Given the description of an element on the screen output the (x, y) to click on. 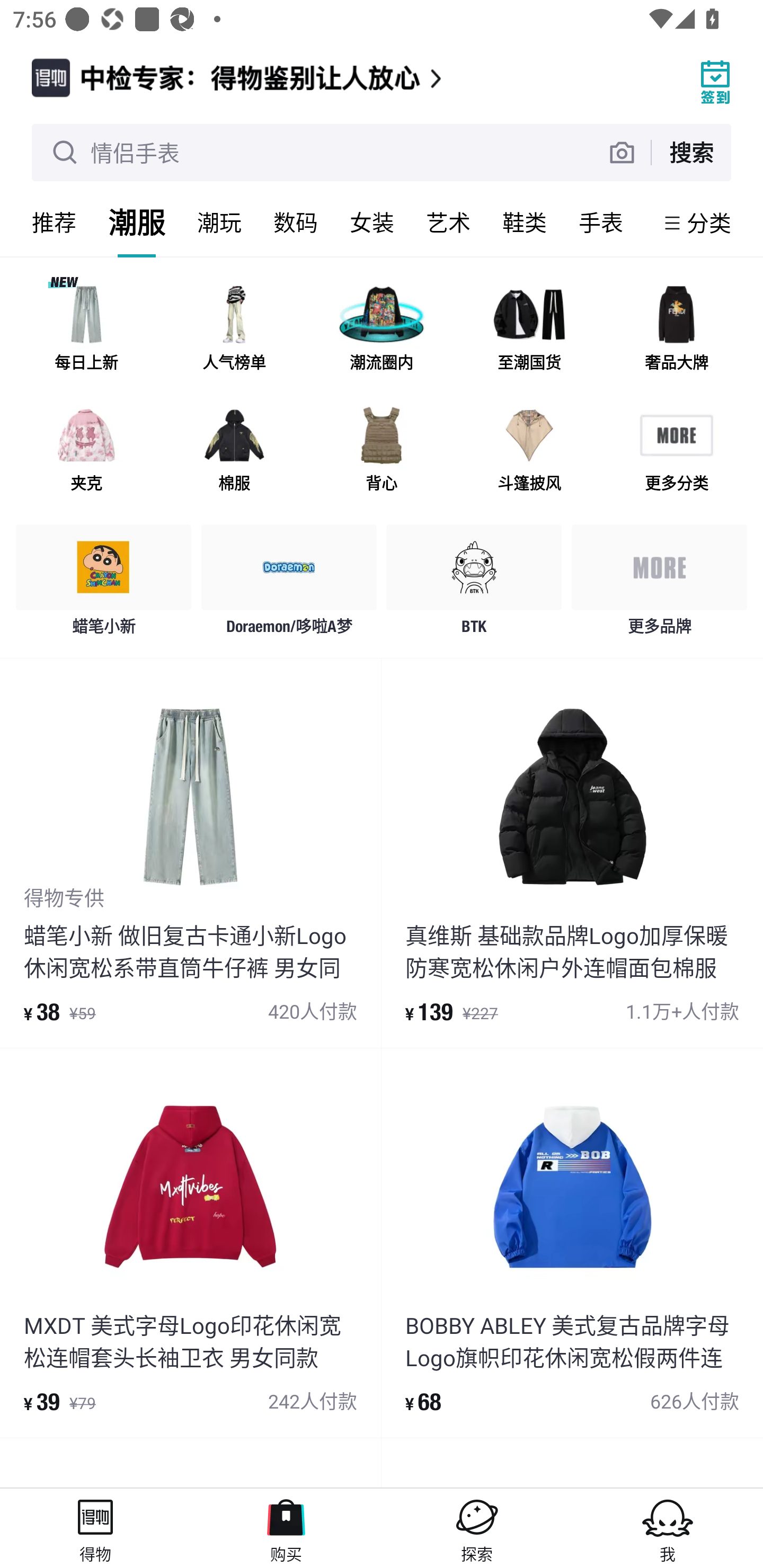
搜索 (690, 152)
推荐 (54, 222)
潮服 (136, 222)
潮玩 (219, 222)
数码 (295, 222)
女装 (372, 222)
艺术 (448, 222)
鞋类 (524, 222)
手表 (601, 222)
分类 (708, 222)
每日上新 (86, 329)
人气榜单 (233, 329)
潮流圈内 (381, 329)
至潮国货 (528, 329)
奢品大牌 (676, 329)
夹克 (86, 450)
棉服 (233, 450)
背心 (381, 450)
斗篷披风 (528, 450)
更多分类 (676, 450)
蜡笔小新 (103, 583)
Doraemon/哆啦A梦 (288, 583)
BTK (473, 583)
更多品牌 (658, 583)
得物 (95, 1528)
购买 (285, 1528)
探索 (476, 1528)
我 (667, 1528)
